Given the description of an element on the screen output the (x, y) to click on. 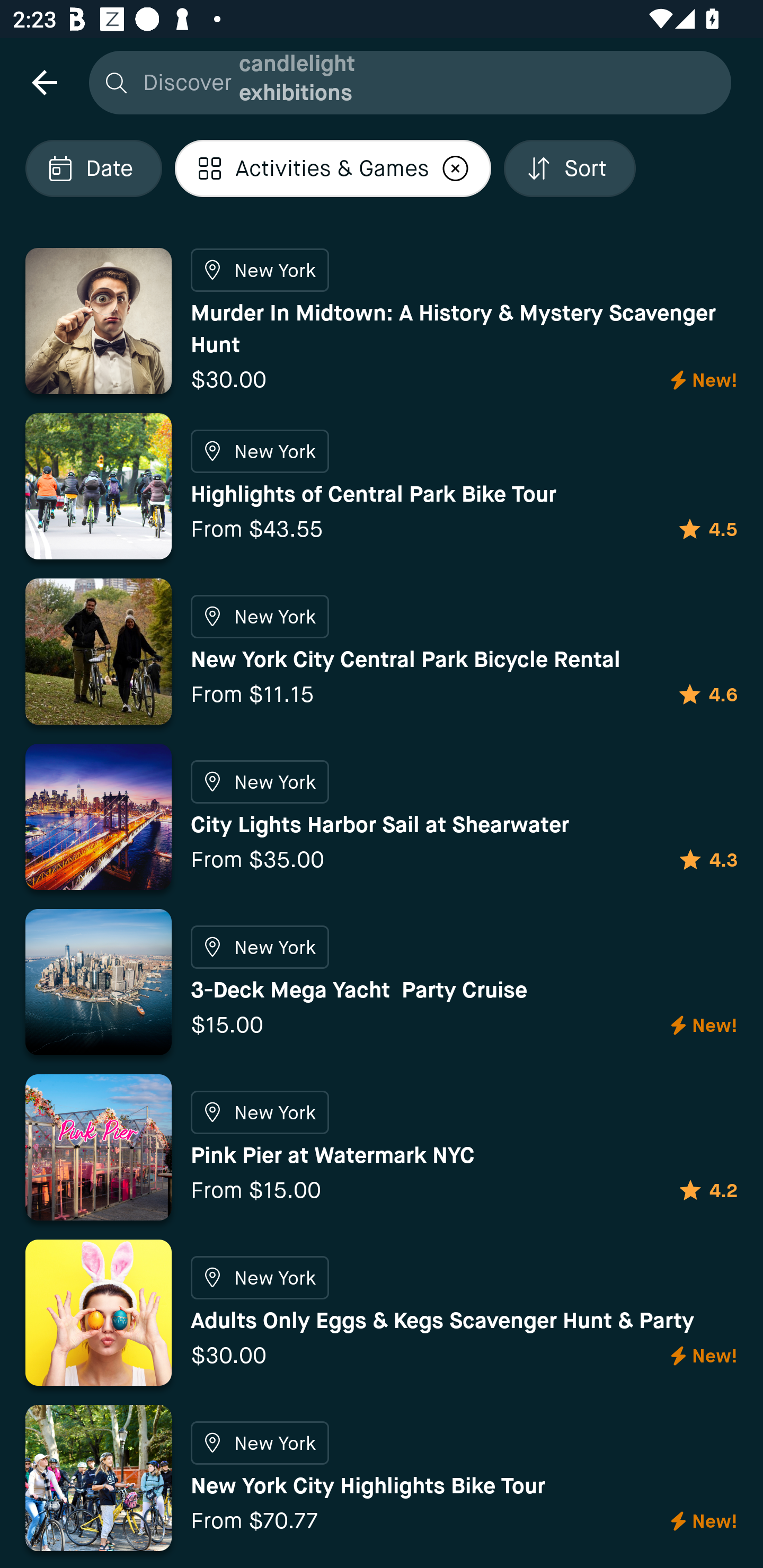
navigation icon (44, 81)
Discover candlelight (405, 81)
Localized description Date (93, 168)
Localized description (455, 168)
Localized description Sort (569, 168)
